Given the description of an element on the screen output the (x, y) to click on. 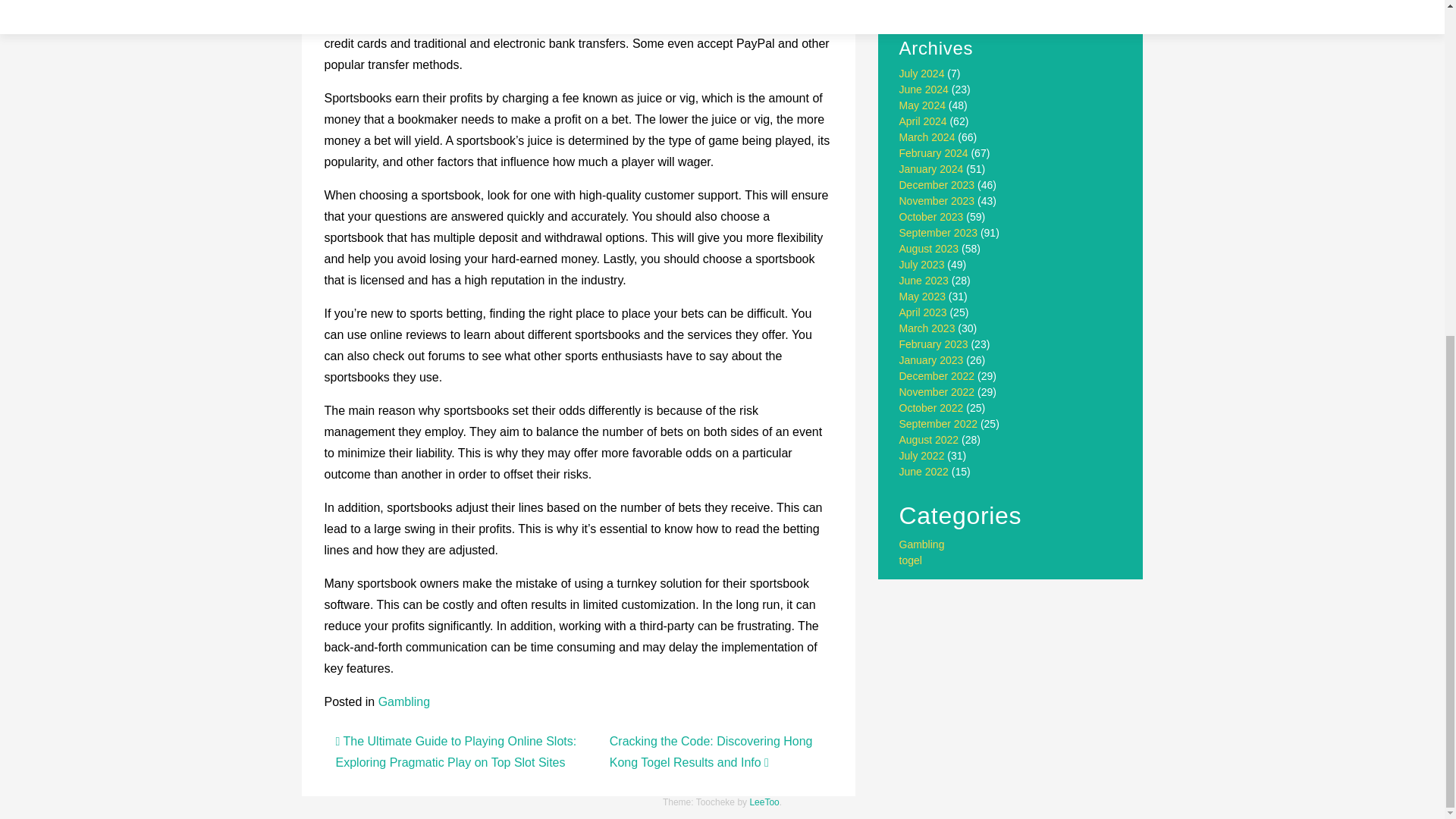
June 2024 (924, 89)
November 2022 (937, 391)
February 2024 (933, 152)
October 2022 (931, 408)
September 2022 (938, 423)
December 2023 (937, 184)
Gambling (921, 544)
April 2023 (923, 312)
July 2023 (921, 264)
Gambling (403, 701)
August 2023 (929, 248)
February 2023 (933, 344)
May 2023 (921, 296)
July 2024 (921, 73)
April 2024 (923, 121)
